Given the description of an element on the screen output the (x, y) to click on. 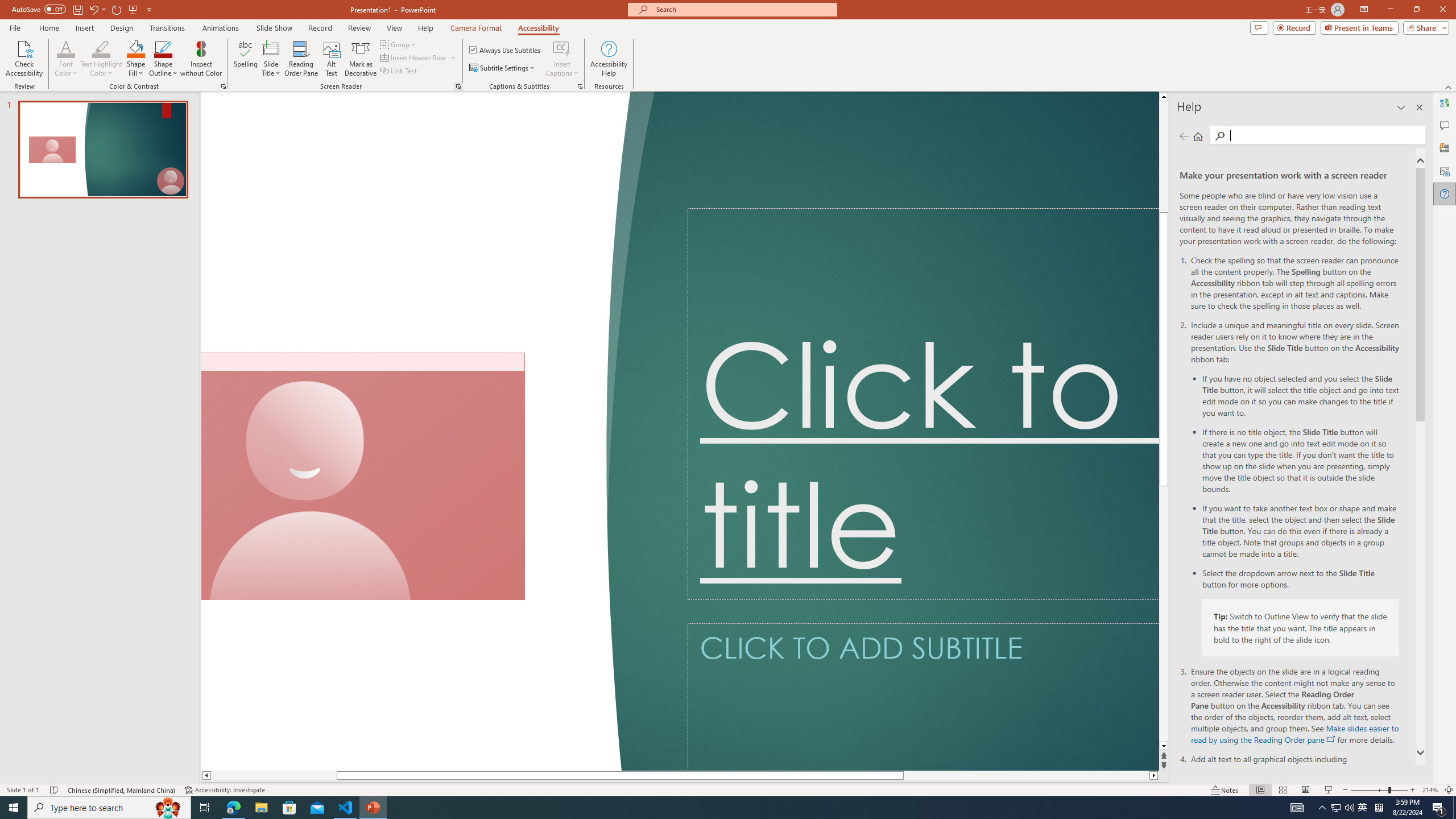
Link Text (399, 69)
Inspect without Color (201, 58)
Shape Outline Blue, Accent 1 (163, 48)
